Given the description of an element on the screen output the (x, y) to click on. 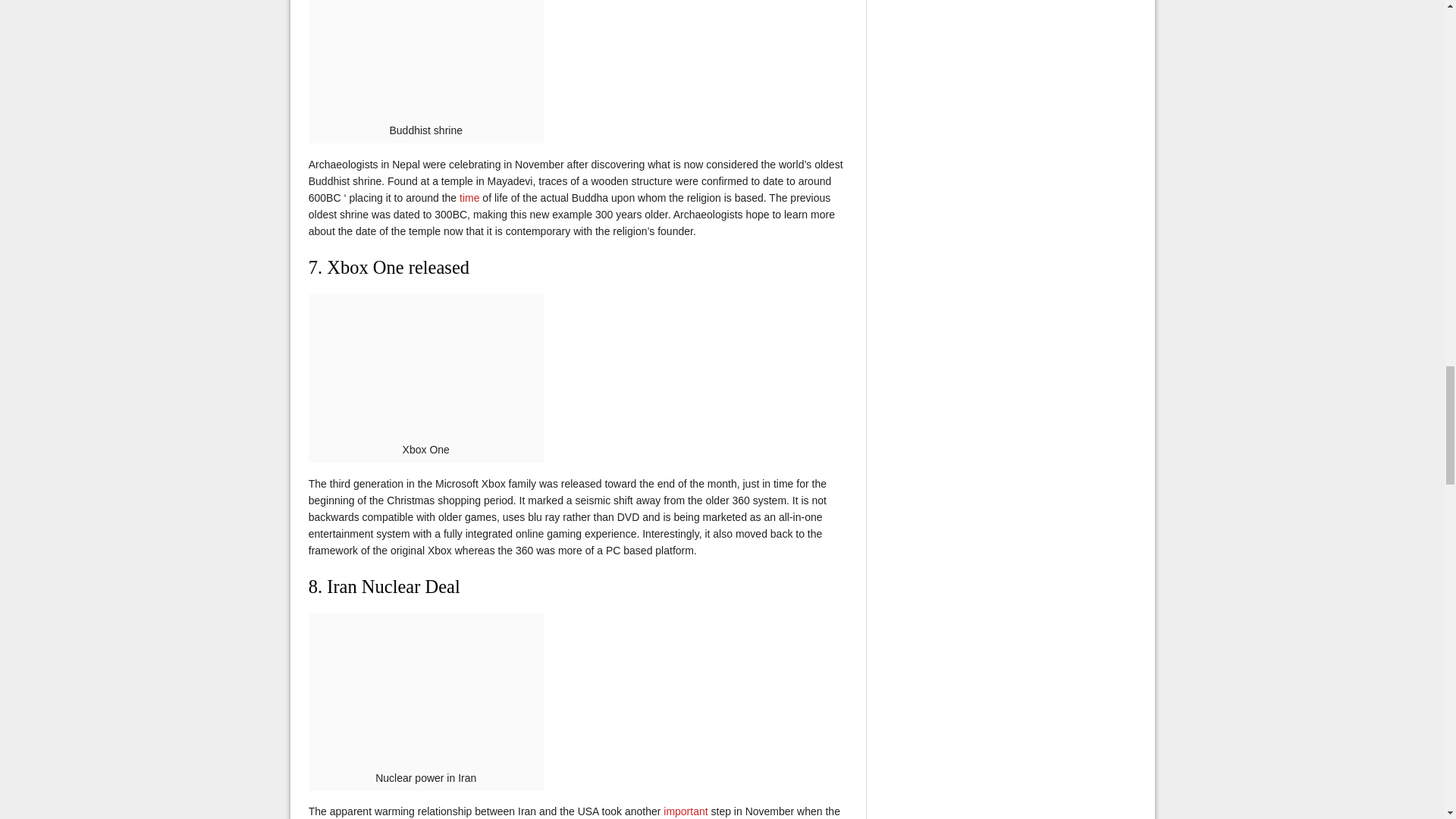
important (685, 811)
time (469, 197)
FAMOUS IMPORTANT WORLD NEWS STORIES OF AUGUST 2013 (685, 811)
FAMOUS ANCIENT LAWS WAY AHEAD OF THEIR TIME (469, 197)
